Given the description of an element on the screen output the (x, y) to click on. 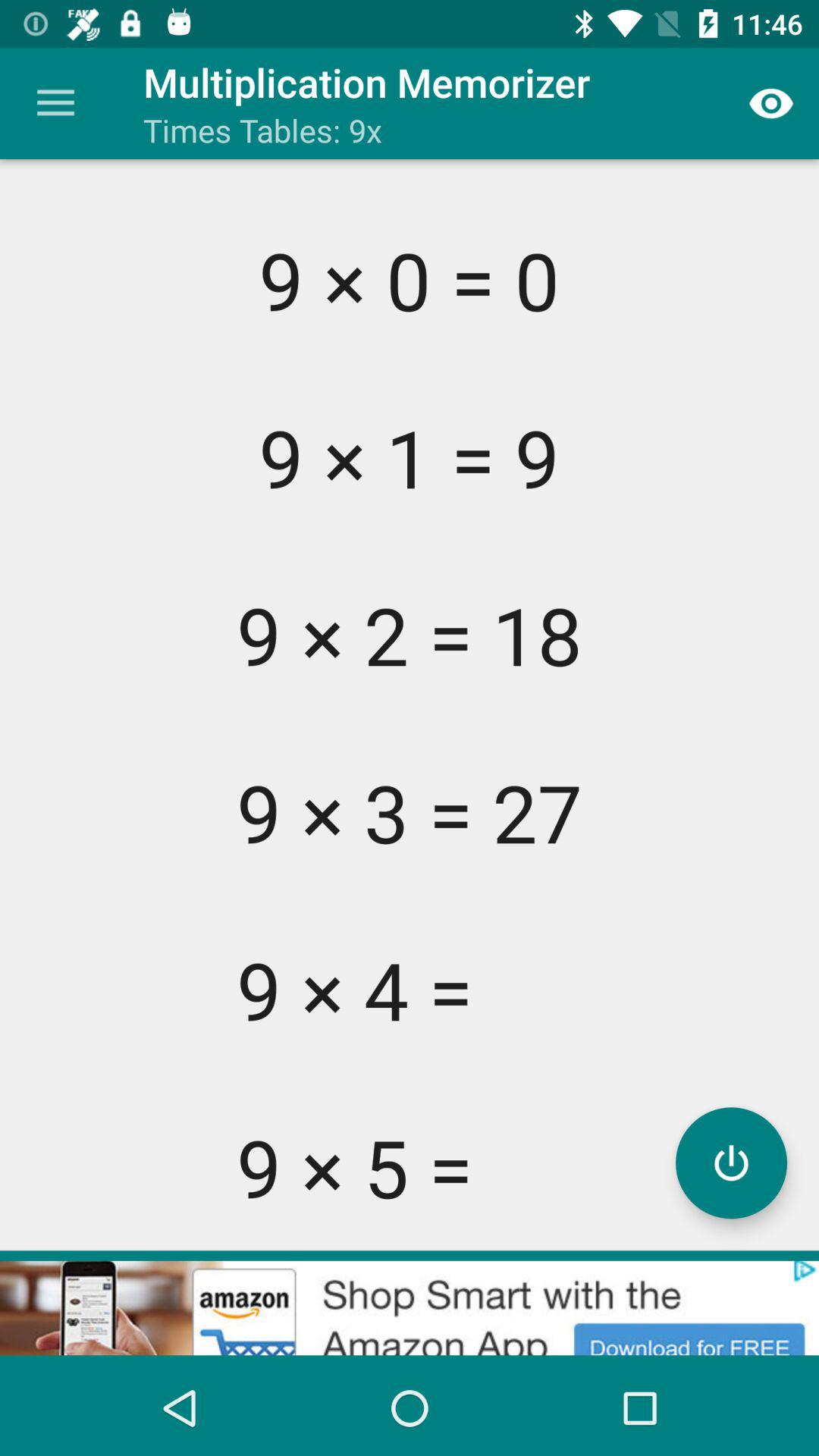
switch button (731, 1162)
